Given the description of an element on the screen output the (x, y) to click on. 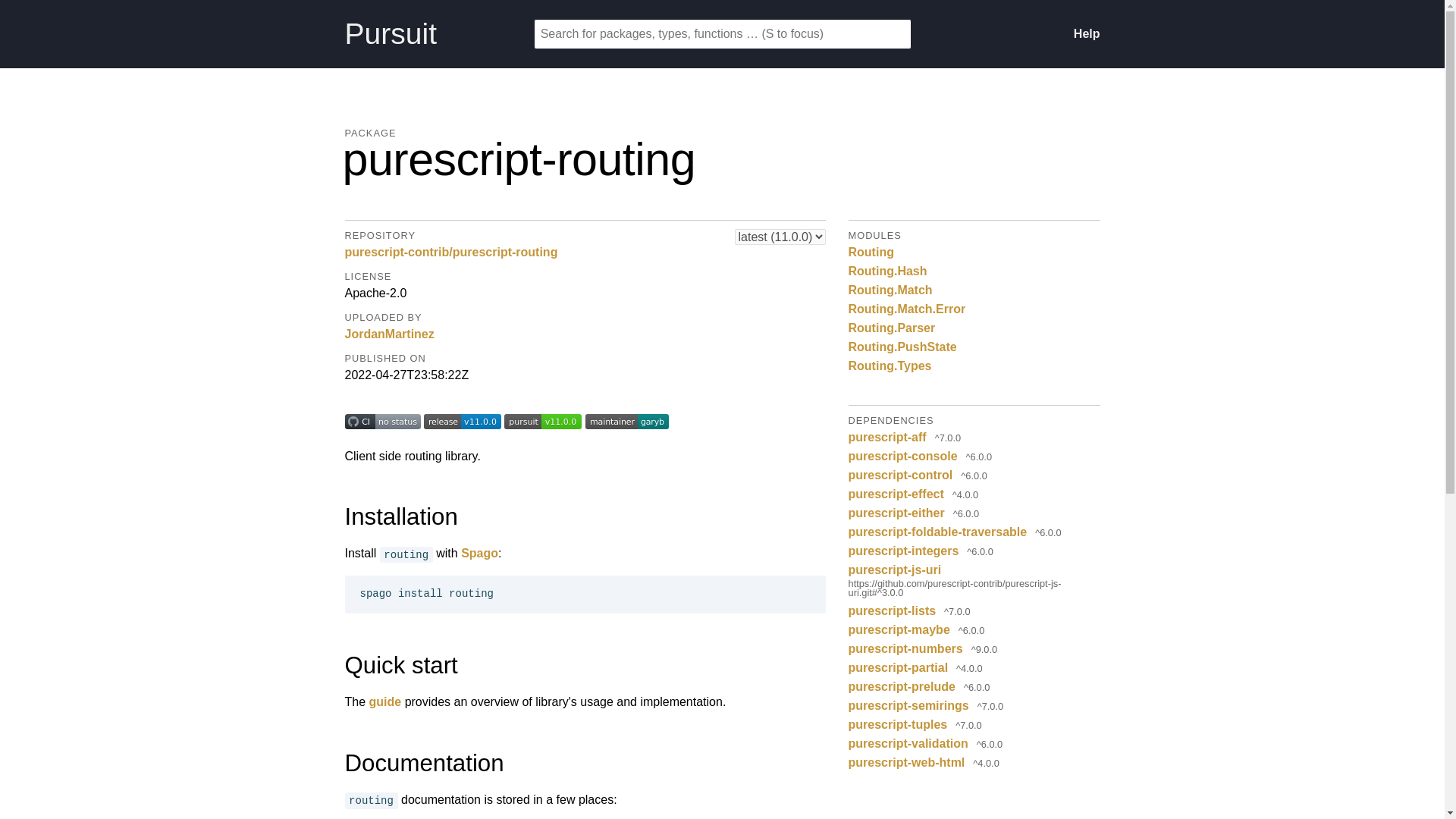
JordanMartinez (388, 333)
Routing.Parser (892, 327)
purescript-js-uri (895, 569)
purescript-control (900, 475)
Routing.Types (889, 365)
Routing (870, 251)
Spago (479, 553)
purescript-integers (903, 550)
purescript-either (896, 512)
Pursuit (437, 33)
